Given the description of an element on the screen output the (x, y) to click on. 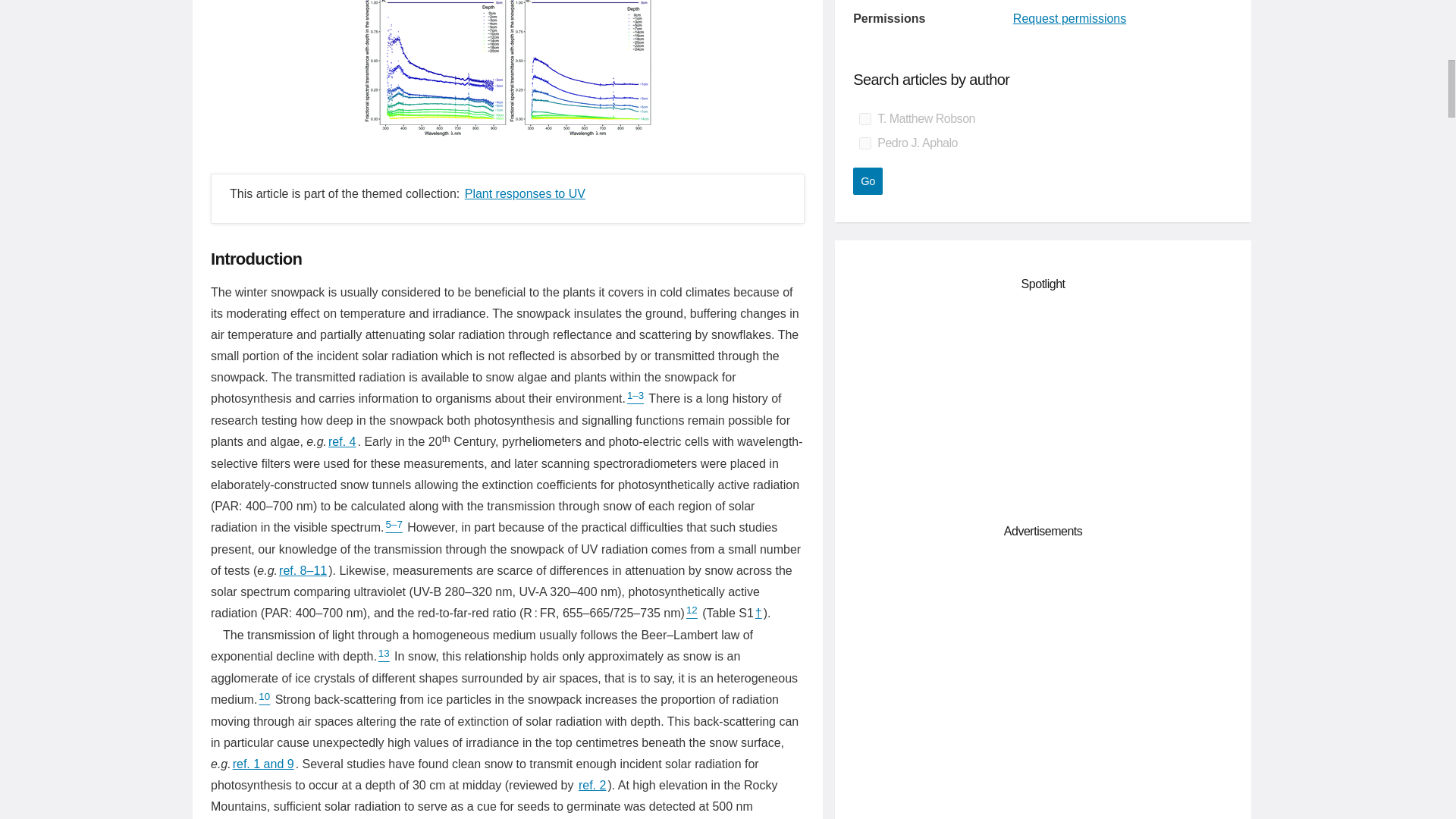
Plant responses to UV (524, 193)
Go (867, 180)
on (864, 143)
10 (263, 699)
ref. 4 (341, 441)
ref. 1 and 9 (263, 763)
on (864, 119)
12 (691, 612)
13 (384, 656)
ref. 2 (591, 785)
